Given the description of an element on the screen output the (x, y) to click on. 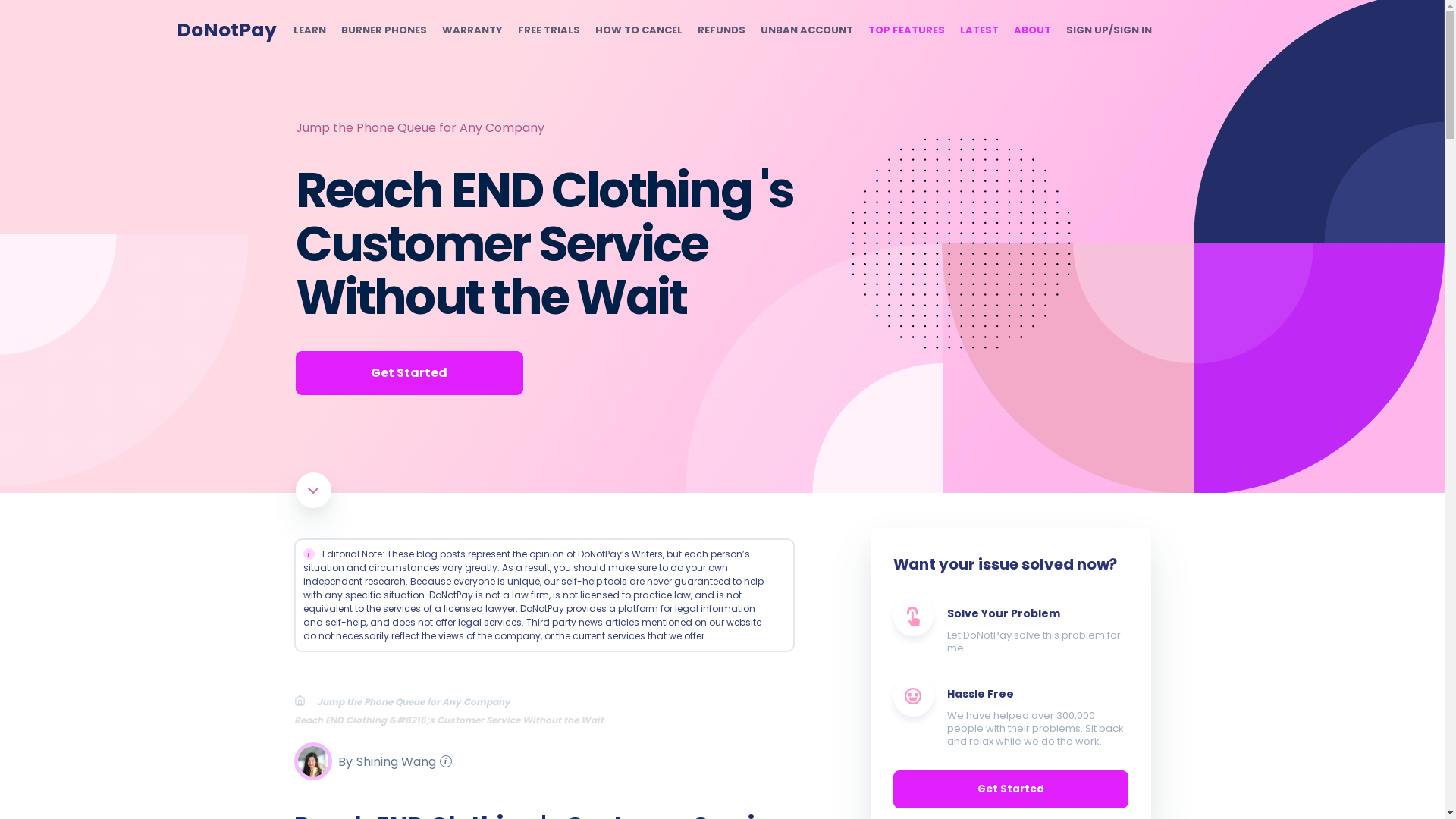
Jump the Phone Queue for Any Company (419, 700)
BURNER PHONES (383, 29)
DoNotPay (226, 29)
TOP FEATURES (905, 29)
UNBAN ACCOUNT (805, 29)
ABOUT (1031, 29)
LEARN (308, 29)
REFUNDS (721, 29)
Jump the Phone Queue for Any Company (419, 127)
WARRANTY (471, 29)
LATEST (978, 29)
FREE TRIALS (547, 29)
Get Started (408, 372)
HOW TO CANCEL (637, 29)
Shining Wang (393, 761)
